Given the description of an element on the screen output the (x, y) to click on. 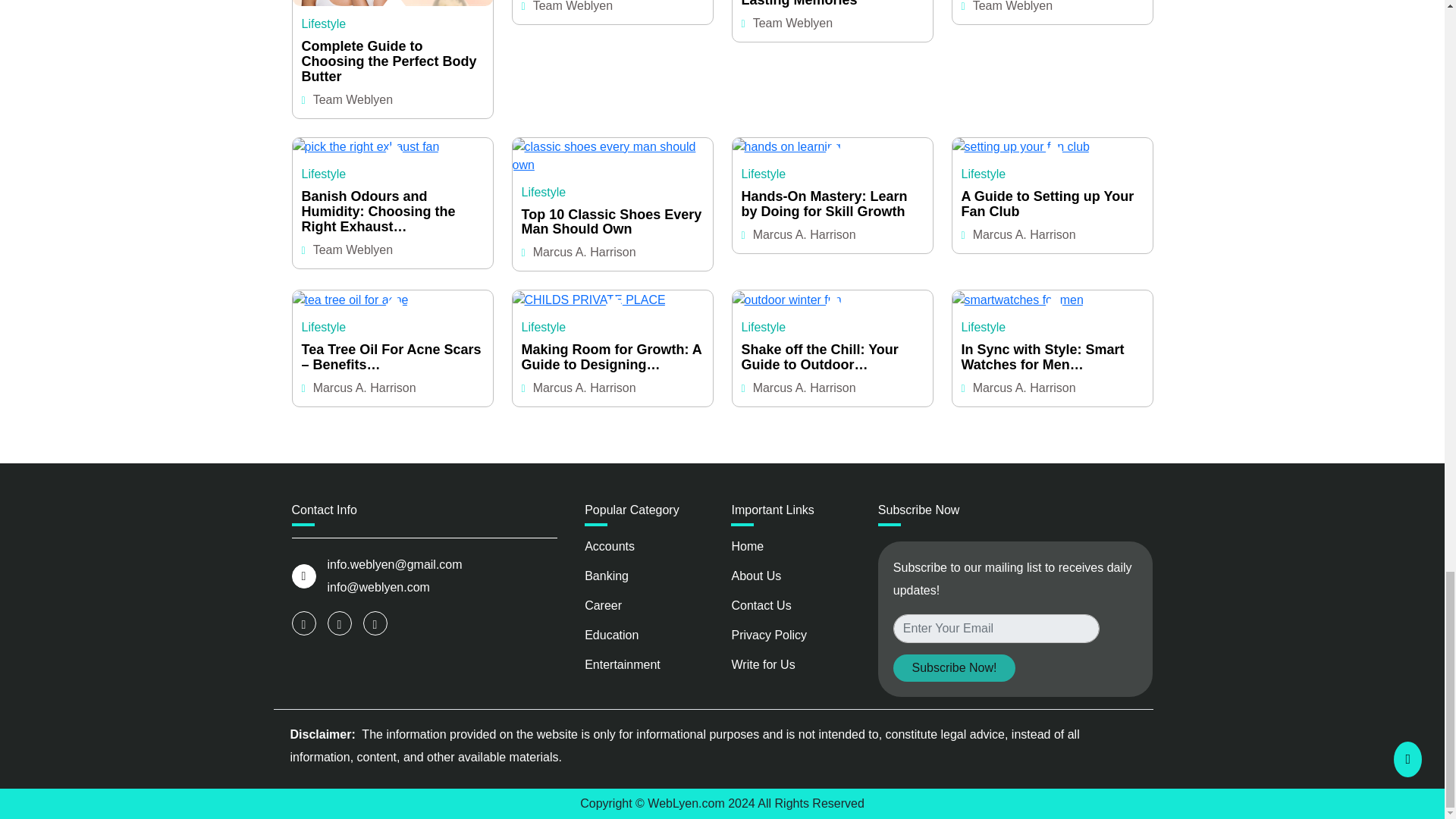
Lifestyle (323, 23)
Team Weblyen (353, 99)
Subscribe Now! (953, 667)
Complete Guide to Choosing the Perfect Body Butter (392, 61)
